Given the description of an element on the screen output the (x, y) to click on. 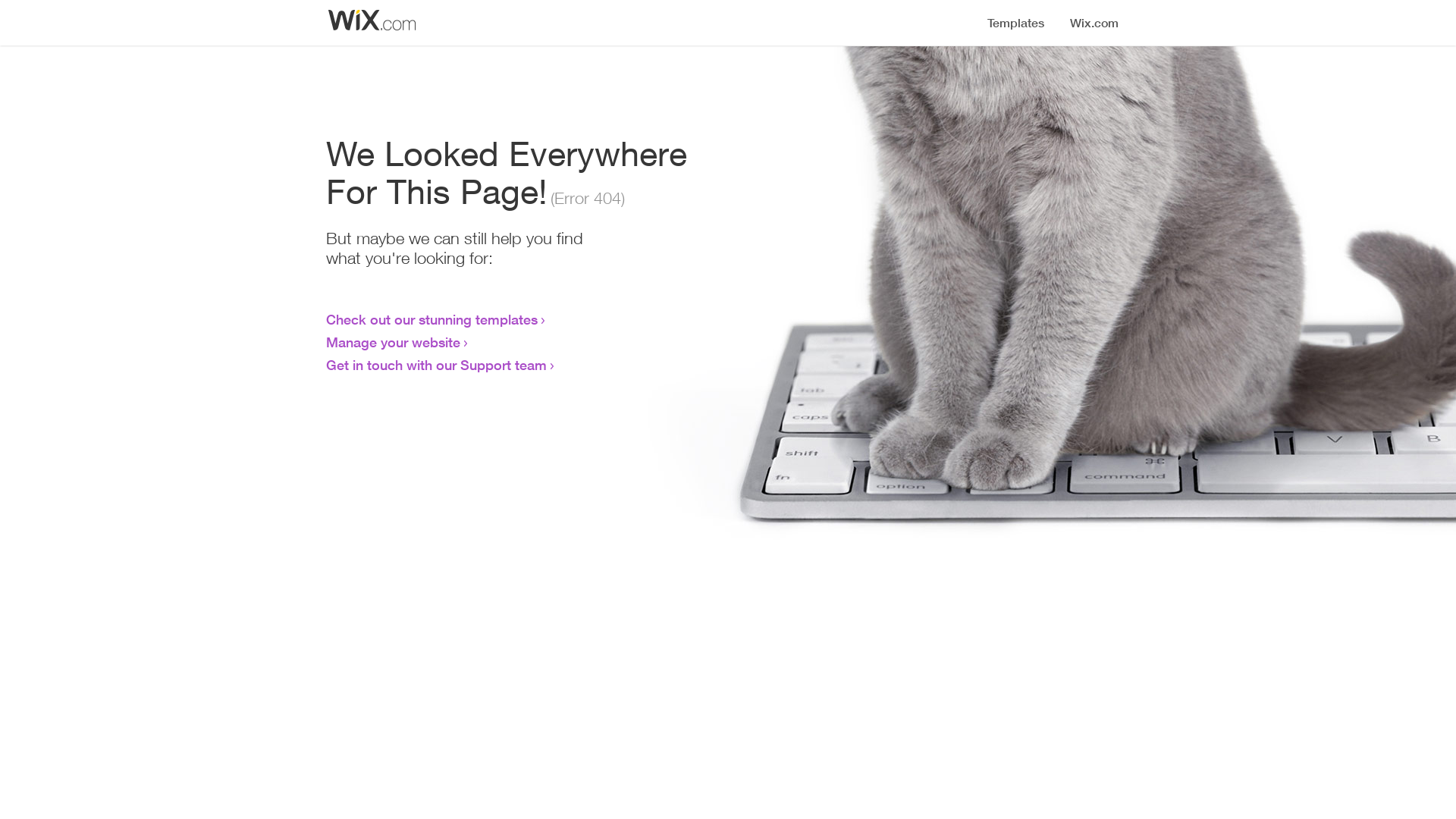
Check out our stunning templates Element type: text (431, 318)
Get in touch with our Support team Element type: text (436, 364)
Manage your website Element type: text (393, 341)
